Given the description of an element on the screen output the (x, y) to click on. 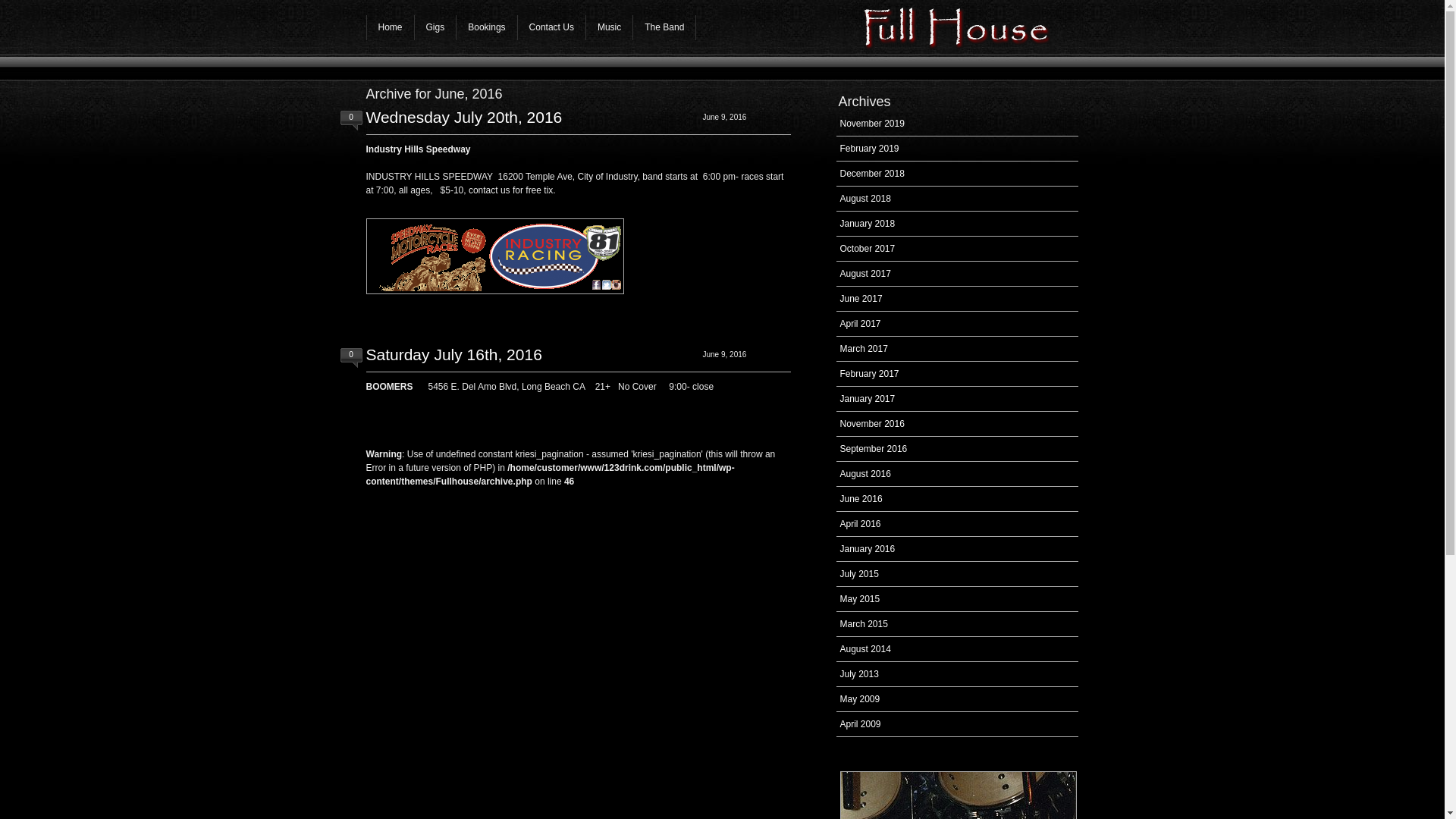
0 Element type: text (351, 352)
May 2015 Element type: text (860, 598)
January 2017 Element type: text (867, 398)
123drink.com Element type: text (968, 27)
Wednesday July 20th, 2016 Element type: text (463, 116)
April 2017 Element type: text (860, 323)
Bookings Element type: text (485, 27)
March 2017 Element type: text (864, 348)
Gigs Element type: text (435, 27)
January 2018 Element type: text (867, 223)
July 2015 Element type: text (859, 573)
August 2018 Element type: text (865, 198)
May 2009 Element type: text (860, 698)
March 2015 Element type: text (864, 623)
August 2014 Element type: text (865, 648)
April 2016 Element type: text (860, 523)
August 2017 Element type: text (865, 273)
Home Element type: text (389, 27)
Saturday July 16th, 2016 Element type: text (453, 354)
November 2016 Element type: text (872, 423)
Contact Us Element type: text (551, 27)
0 Element type: text (351, 115)
Music Element type: text (608, 27)
February 2019 Element type: text (869, 148)
June 2017 Element type: text (861, 298)
January 2016 Element type: text (867, 548)
June 2016 Element type: text (861, 498)
August 2016 Element type: text (865, 473)
February 2017 Element type: text (869, 373)
November 2019 Element type: text (872, 123)
The Band Element type: text (663, 27)
July 2013 Element type: text (859, 673)
December 2018 Element type: text (872, 173)
September 2016 Element type: text (873, 448)
April 2009 Element type: text (860, 723)
October 2017 Element type: text (867, 248)
